Given the description of an element on the screen output the (x, y) to click on. 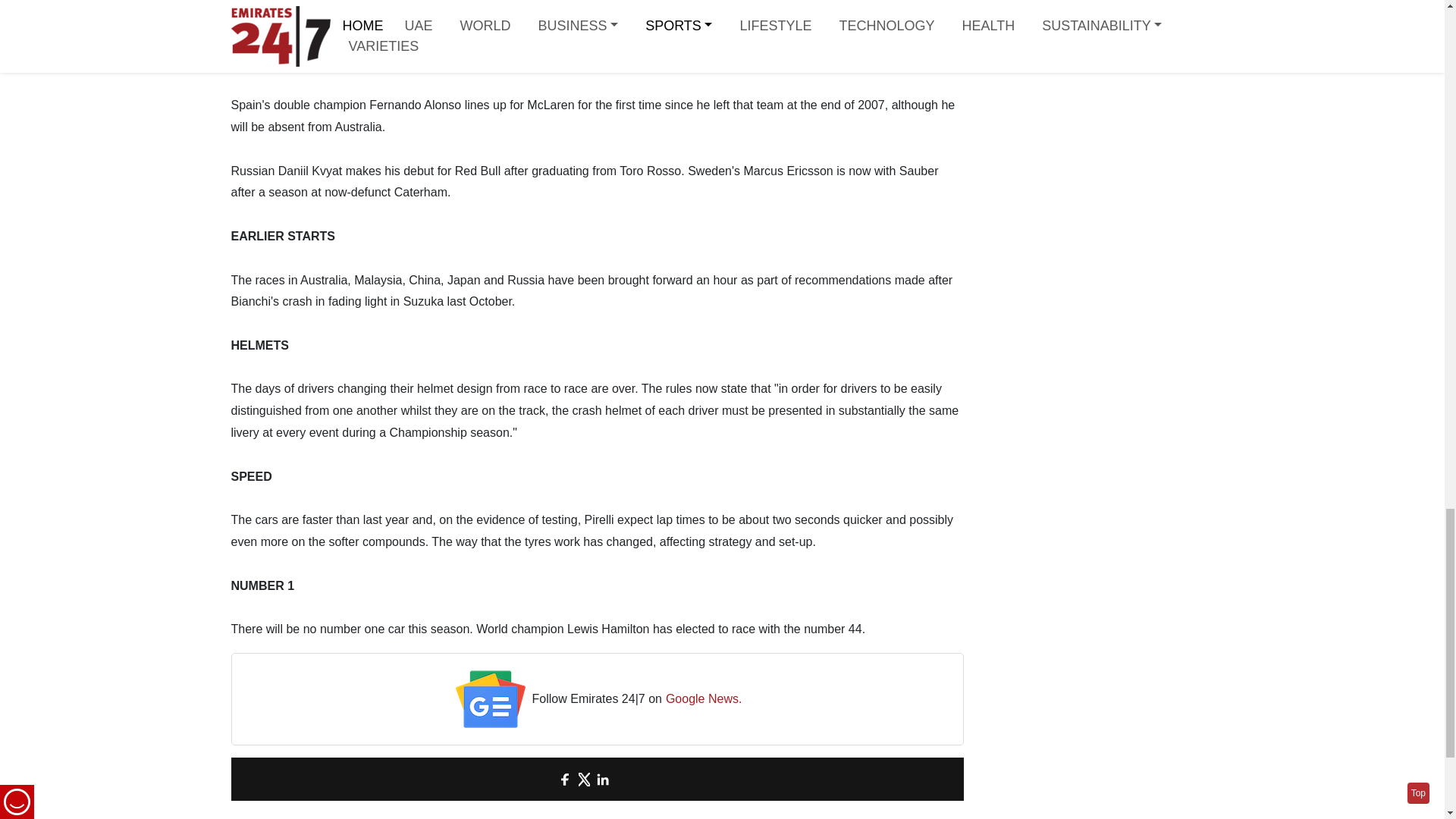
Google News. (703, 699)
